Given the description of an element on the screen output the (x, y) to click on. 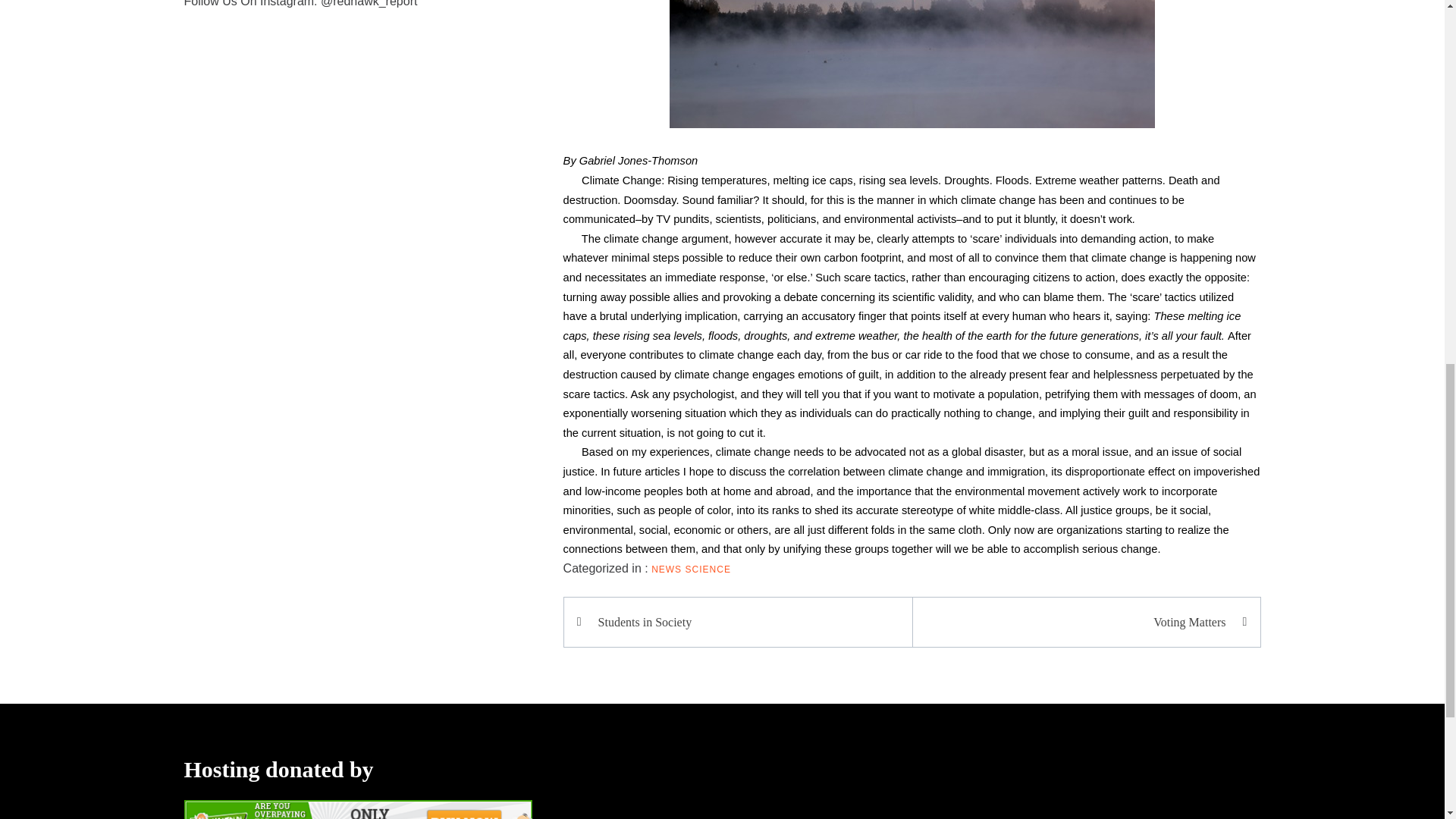
NEWS (665, 569)
SCIENCE (707, 569)
Voting Matters (1078, 622)
Students in Society (745, 622)
